Given the description of an element on the screen output the (x, y) to click on. 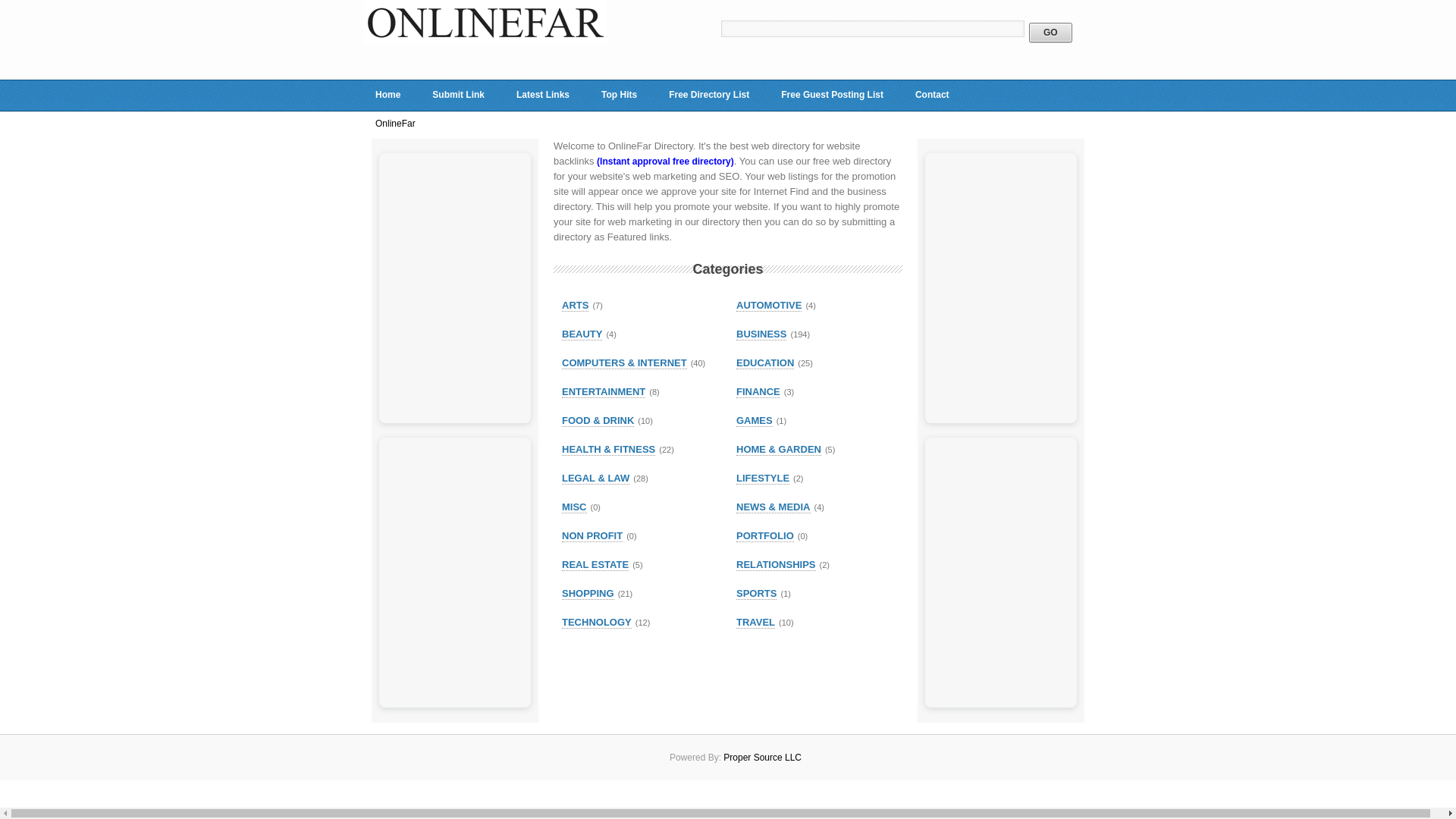
GO (1050, 32)
MISC (574, 507)
Lifestyle (762, 478)
SPORTS (756, 593)
Misc (574, 507)
Free Guest Posting List (832, 95)
Automotive (769, 305)
TECHNOLOGY (596, 622)
FINANCE (758, 391)
Instant approval free directory (664, 161)
ENTERTAINMENT (603, 391)
GO (1050, 32)
Finance (758, 391)
OnlineFar (485, 41)
Home (388, 95)
